Given the description of an element on the screen output the (x, y) to click on. 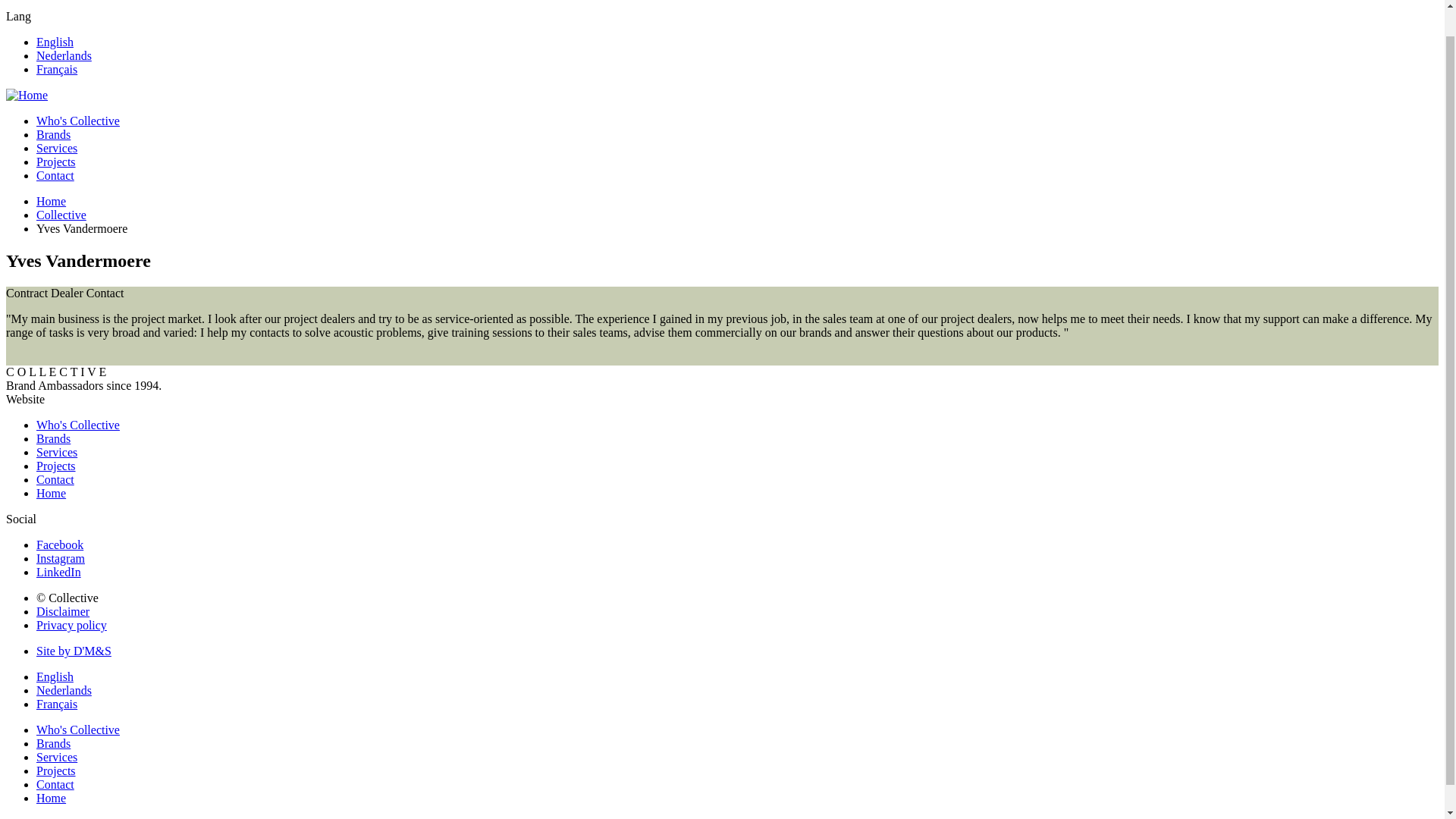
Collective (60, 214)
Projects (55, 465)
Nederlands (63, 689)
Services (56, 451)
English (55, 676)
Home (50, 201)
Home (50, 492)
LinkedIn (58, 571)
Disclaimer (62, 611)
Services (56, 757)
Contact (55, 784)
Home (50, 797)
Contact (55, 479)
Contact (55, 174)
Instagram (60, 558)
